Given the description of an element on the screen output the (x, y) to click on. 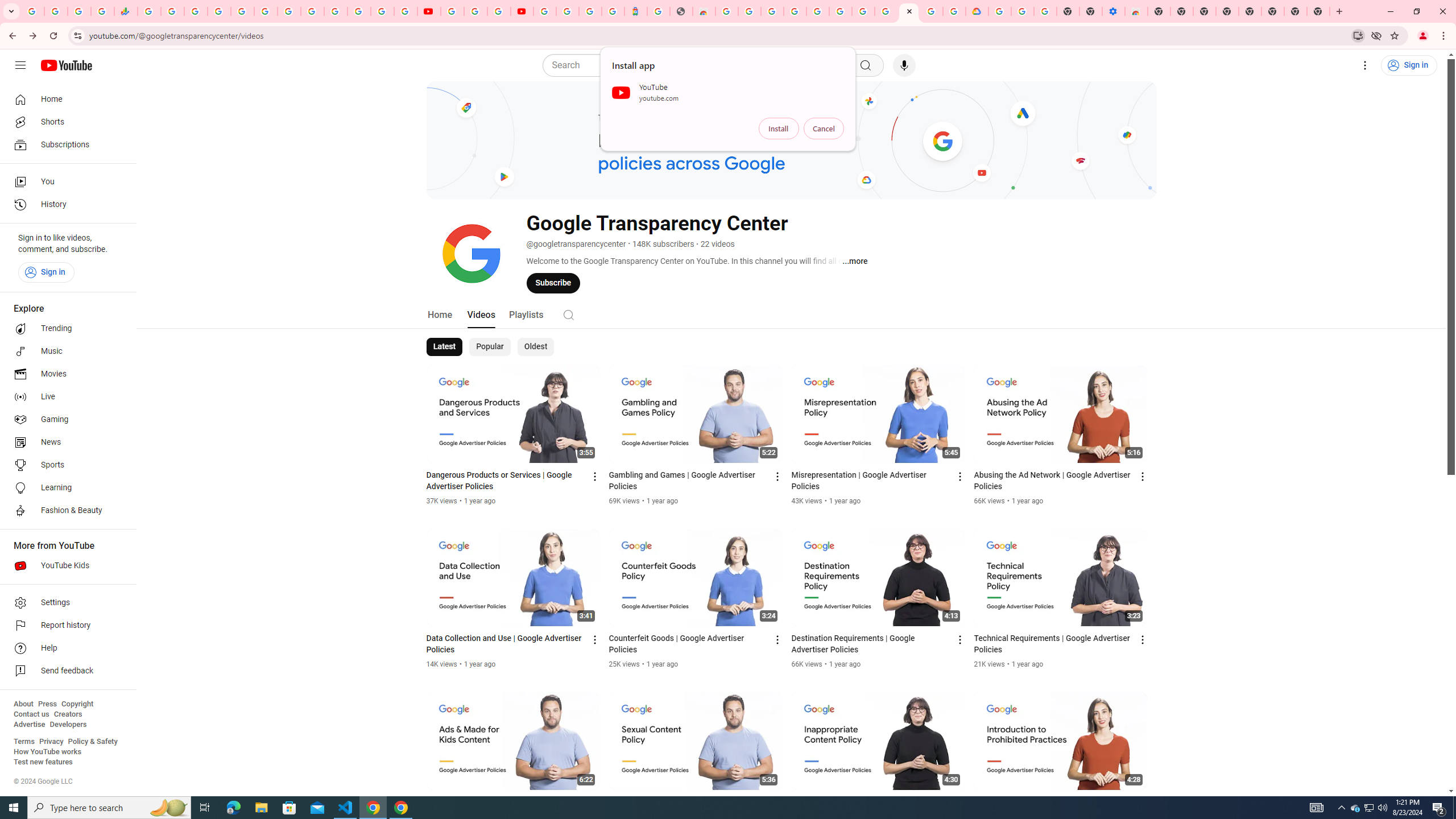
Guide (20, 65)
